Given the description of an element on the screen output the (x, y) to click on. 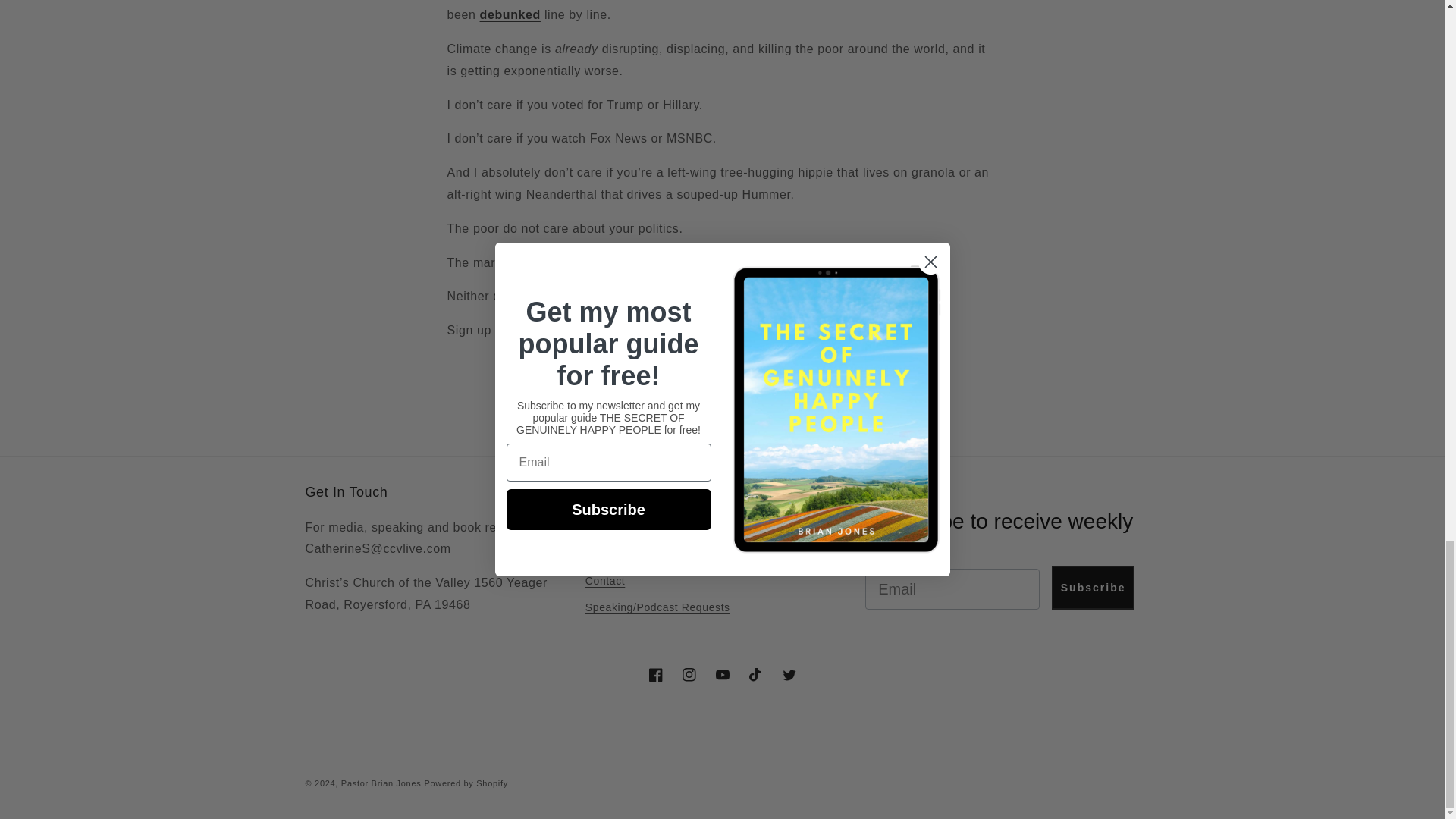
About (600, 554)
Contact (604, 581)
debunked (510, 14)
Articles (604, 529)
HERE (513, 329)
